Given the description of an element on the screen output the (x, y) to click on. 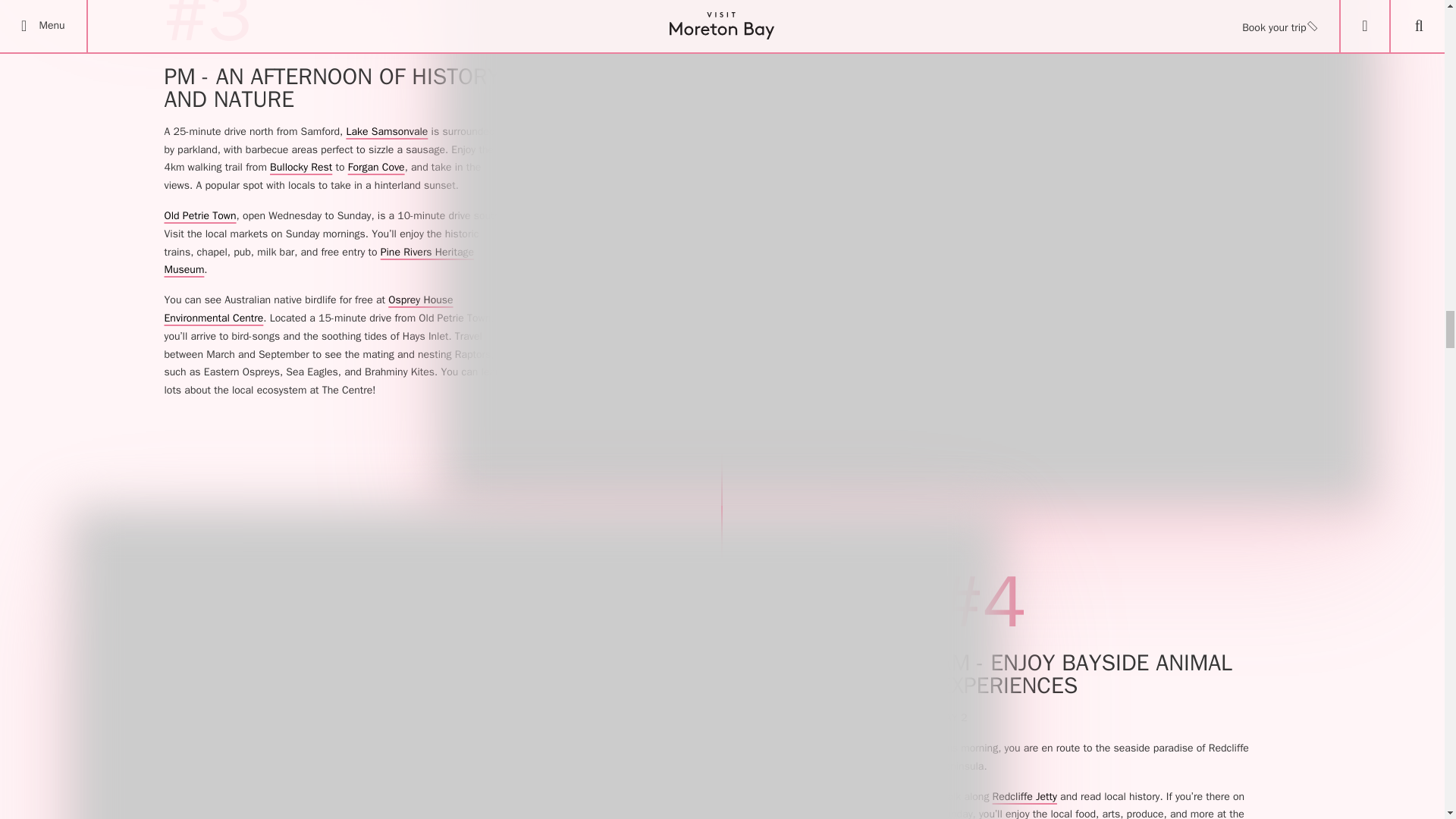
Forgan Cove (375, 166)
Lake Samsonvale (387, 131)
Bullocky Rest (300, 166)
Old Petrie Town (199, 215)
Osprey House Environmental Centre (307, 308)
Pine Rivers Heritage Museum (318, 260)
